Given the description of an element on the screen output the (x, y) to click on. 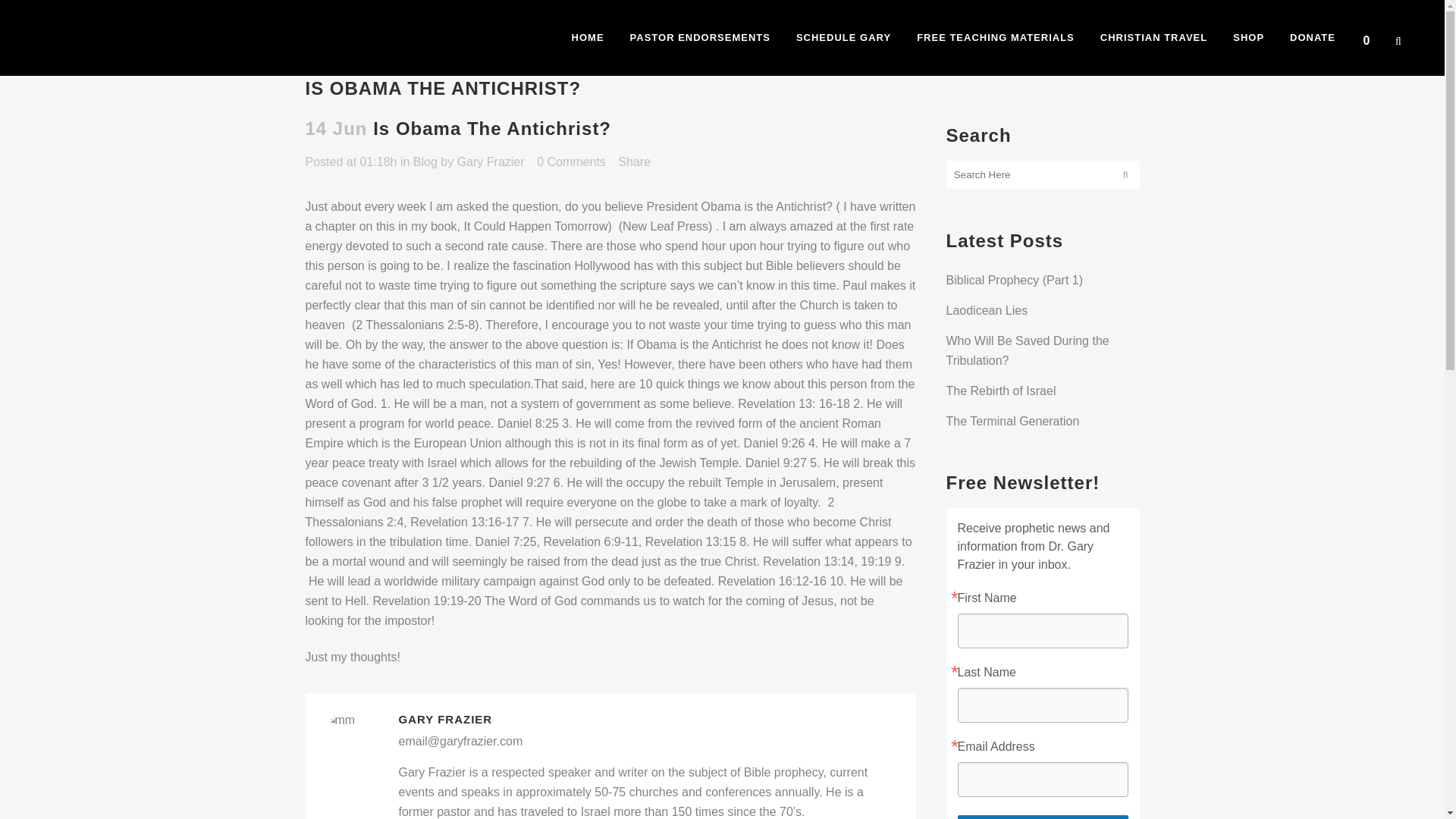
PASTOR ENDORSEMENTS (700, 38)
Gary Frazier (490, 161)
FREE TEACHING MATERIALS (995, 38)
Share (633, 161)
0 (1370, 37)
SCHEDULE GARY (843, 38)
0 Comments (571, 161)
CHRISTIAN TRAVEL (1153, 38)
Blog (425, 161)
DONATE (1312, 38)
